Given the description of an element on the screen output the (x, y) to click on. 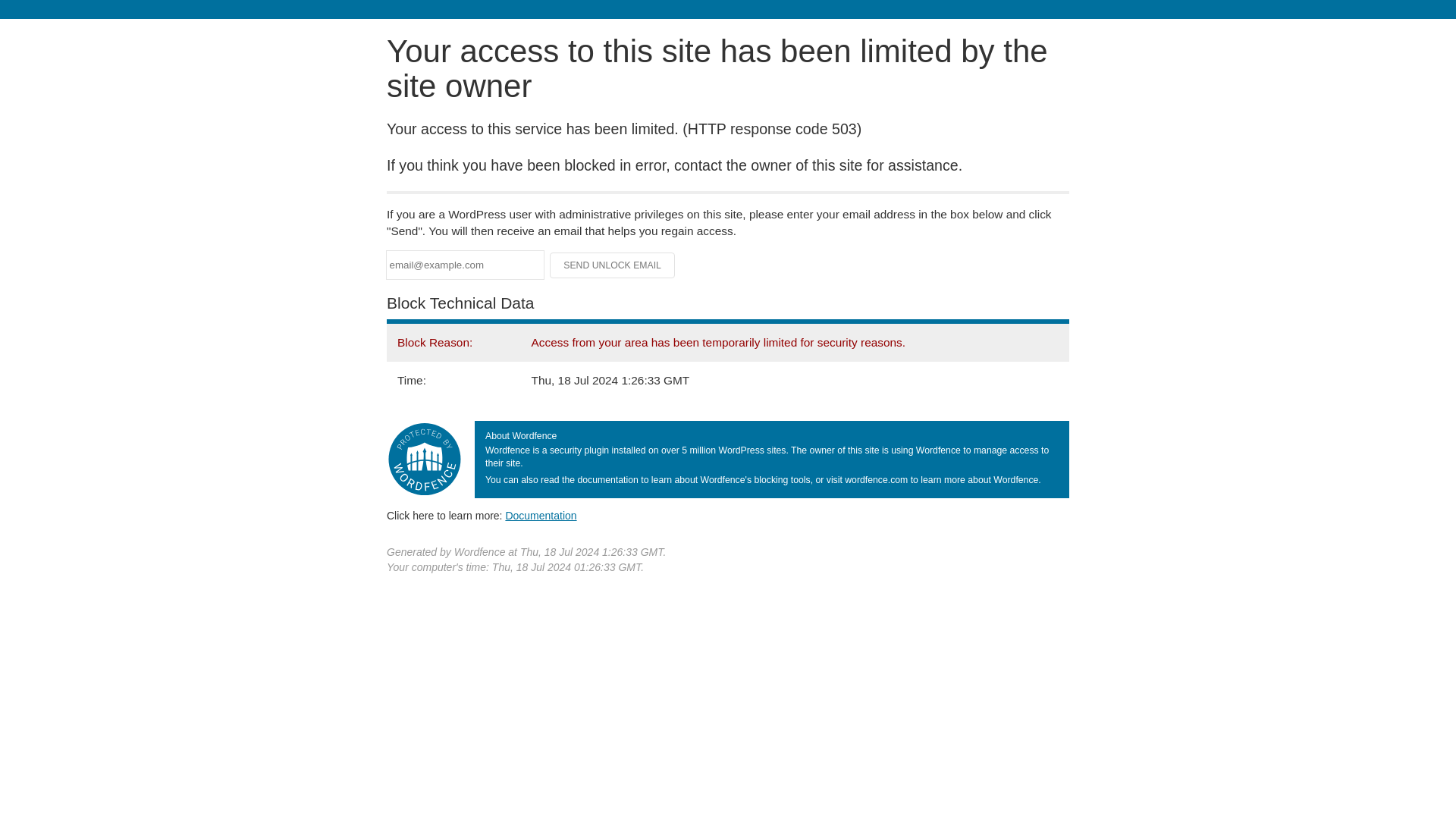
Send Unlock Email (612, 265)
Send Unlock Email (612, 265)
Documentation (540, 515)
